Given the description of an element on the screen output the (x, y) to click on. 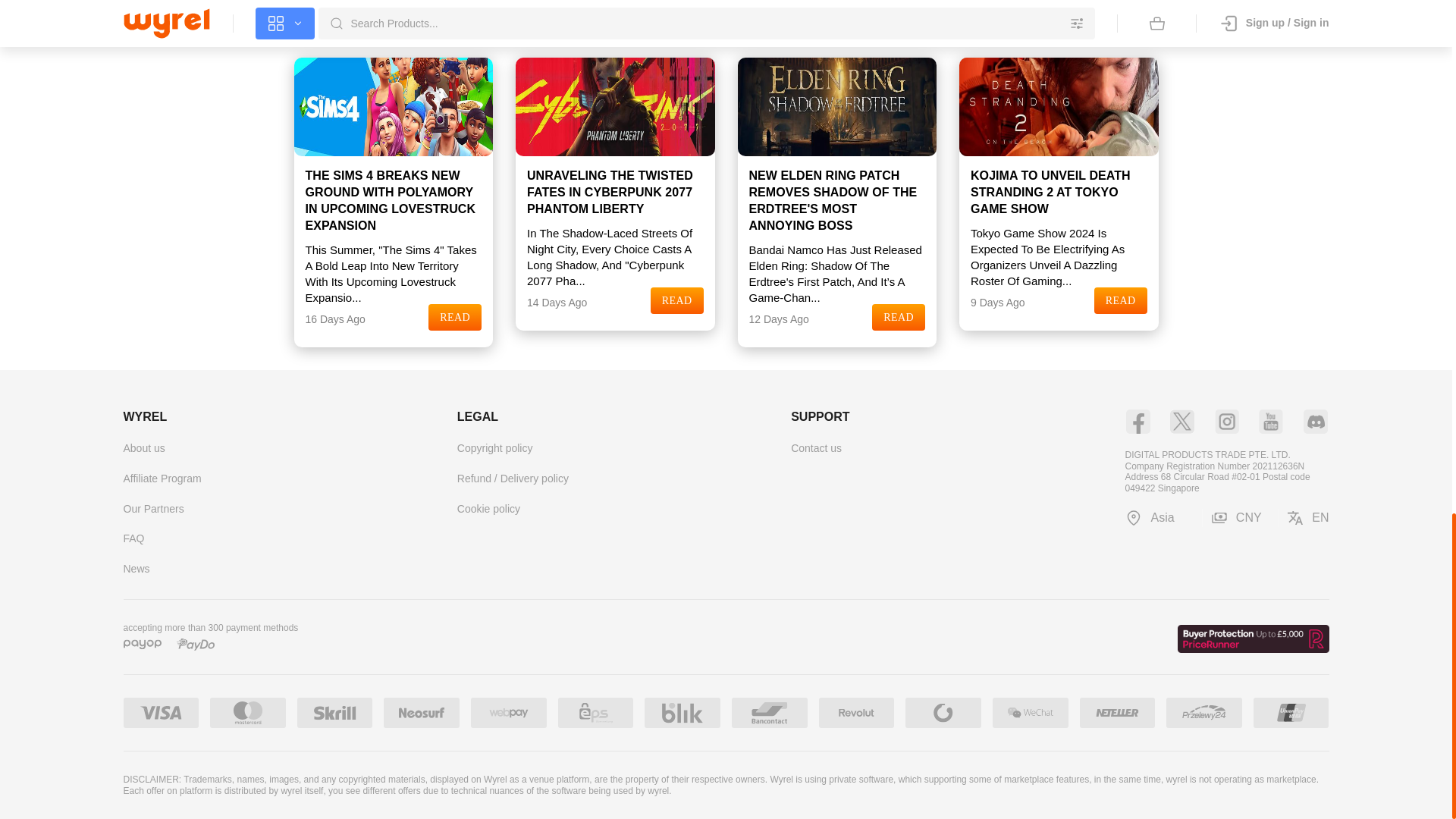
PayDo (195, 644)
Kojima to Unveil Death Stranding 2 at Tokyo Game Show (1058, 106)
Payop (141, 644)
